Given the description of an element on the screen output the (x, y) to click on. 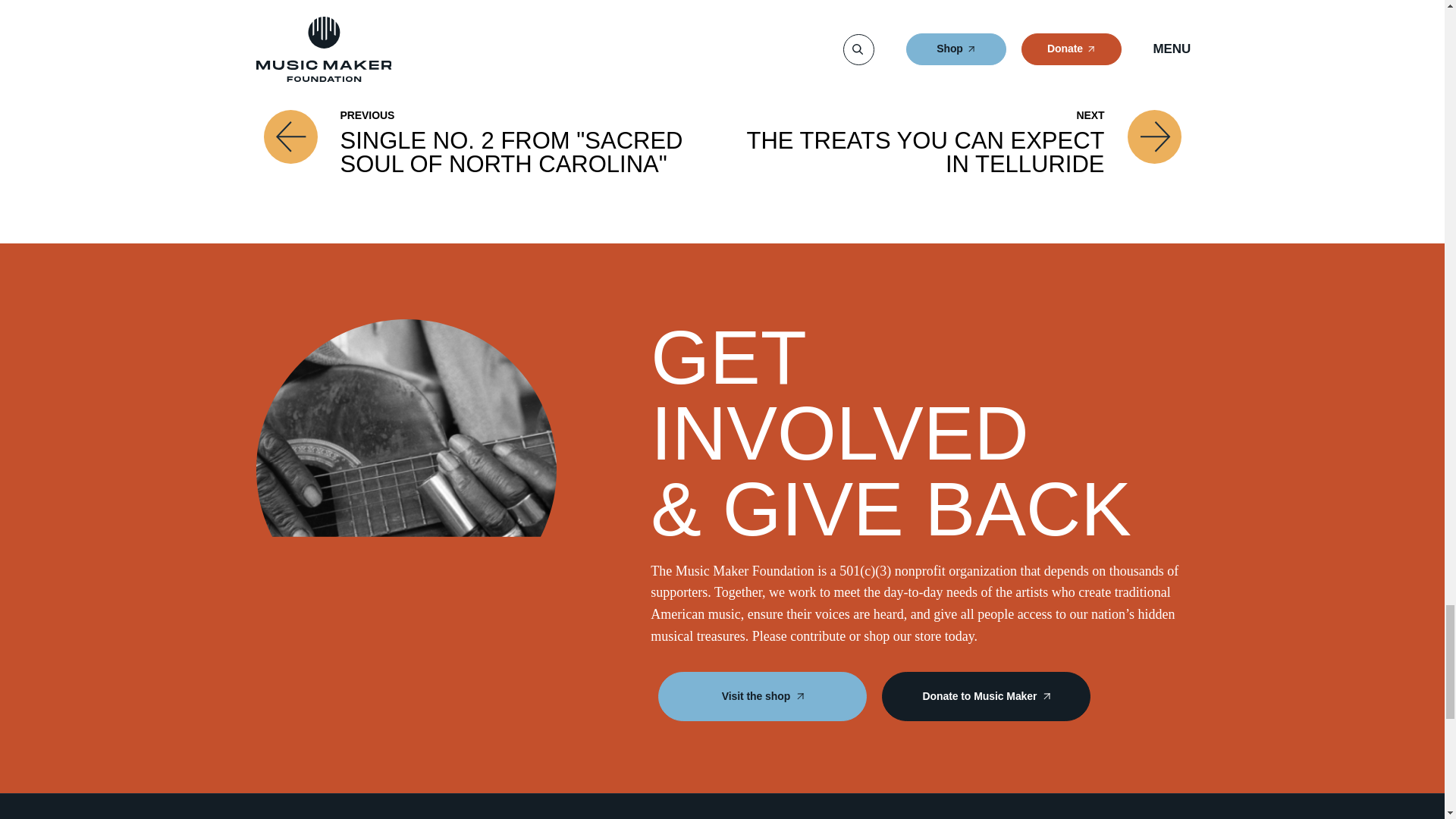
Next Story: The Treats You Can Expect in Telluride (955, 142)
Visit the shop (762, 696)
Donate to Music Maker (986, 696)
